Given the description of an element on the screen output the (x, y) to click on. 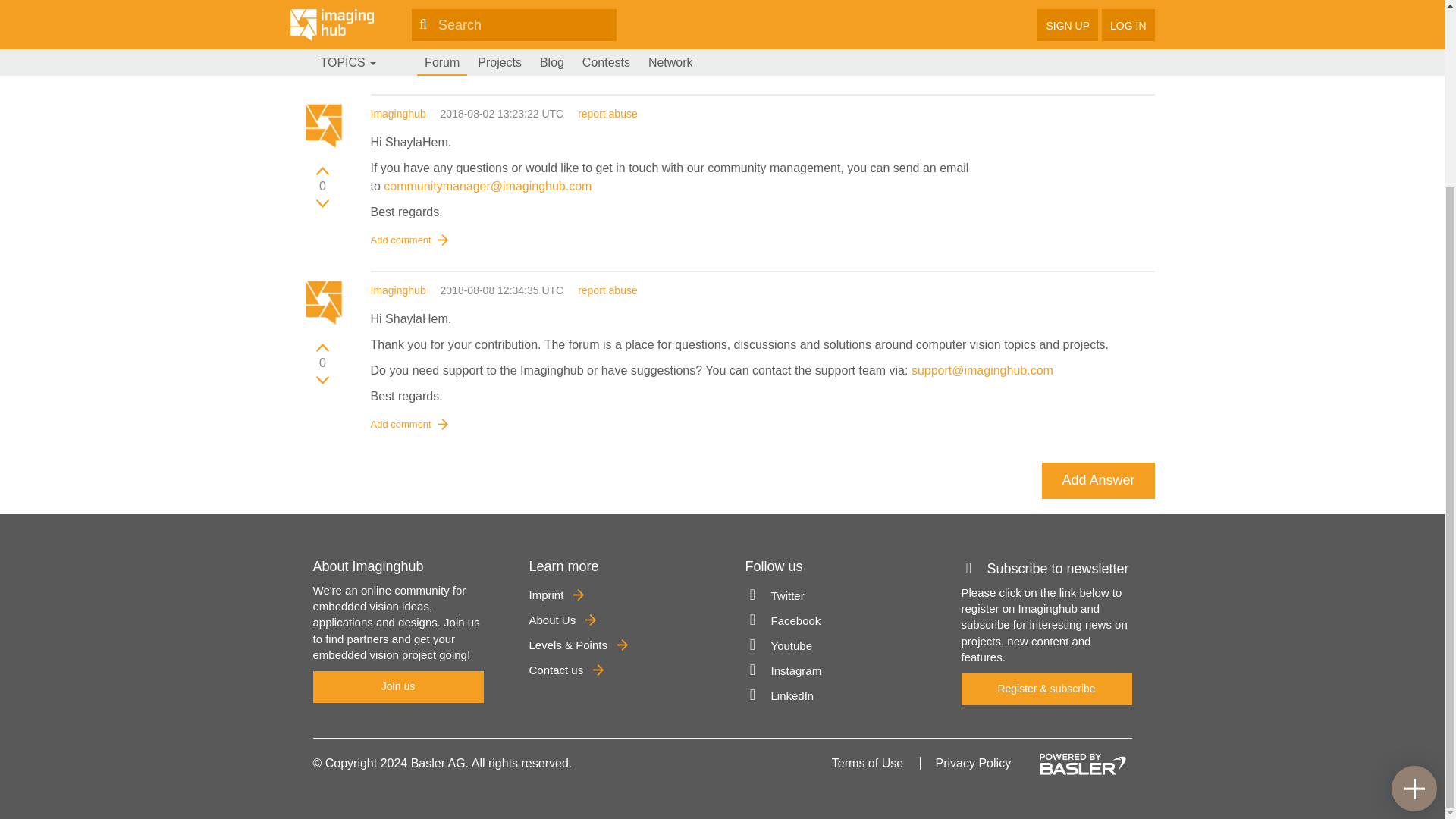
This post is useful and clear (322, 2)
This post is not useful and clear (322, 202)
This post is useful and clear (322, 170)
This post is not useful and clear (322, 379)
This post is useful and clear (322, 346)
This post is not useful and clear (322, 28)
